Given the description of an element on the screen output the (x, y) to click on. 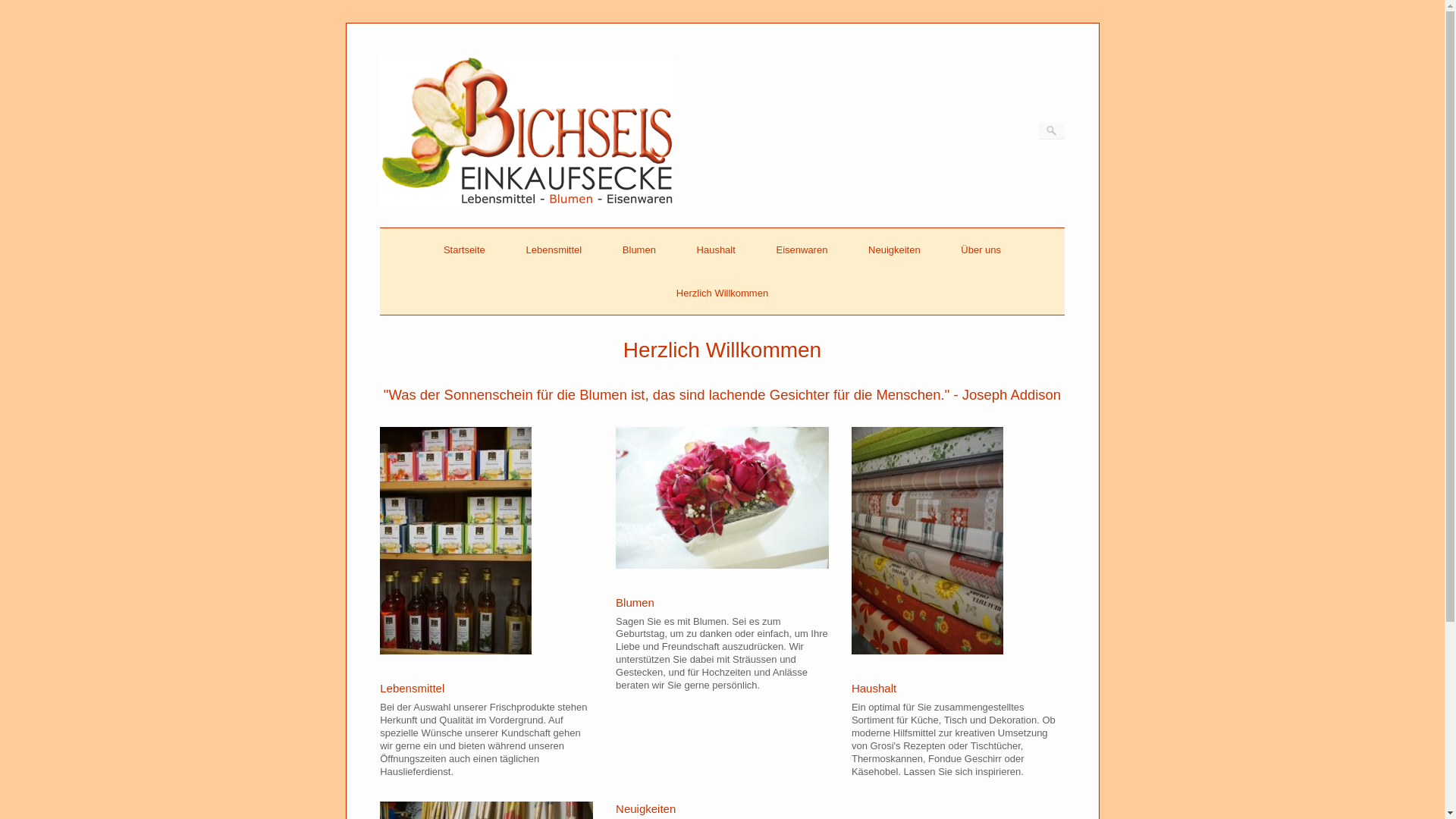
Startseite Element type: text (464, 249)
Herzlich Willkommen Element type: text (722, 292)
Suche Element type: text (20, 7)
Lebensmittel - Blumen - Eisenwaren Element type: hover (526, 203)
Haushalt Element type: text (715, 249)
Neuigkeiten Element type: text (645, 808)
Blumen Element type: text (634, 602)
Lebensmittel Element type: text (411, 687)
Lebensmittel Element type: text (553, 249)
Neuigkeiten Element type: text (894, 249)
Haushalt Element type: text (873, 687)
Blumen Element type: text (638, 249)
Eisenwaren Element type: text (801, 249)
